Given the description of an element on the screen output the (x, y) to click on. 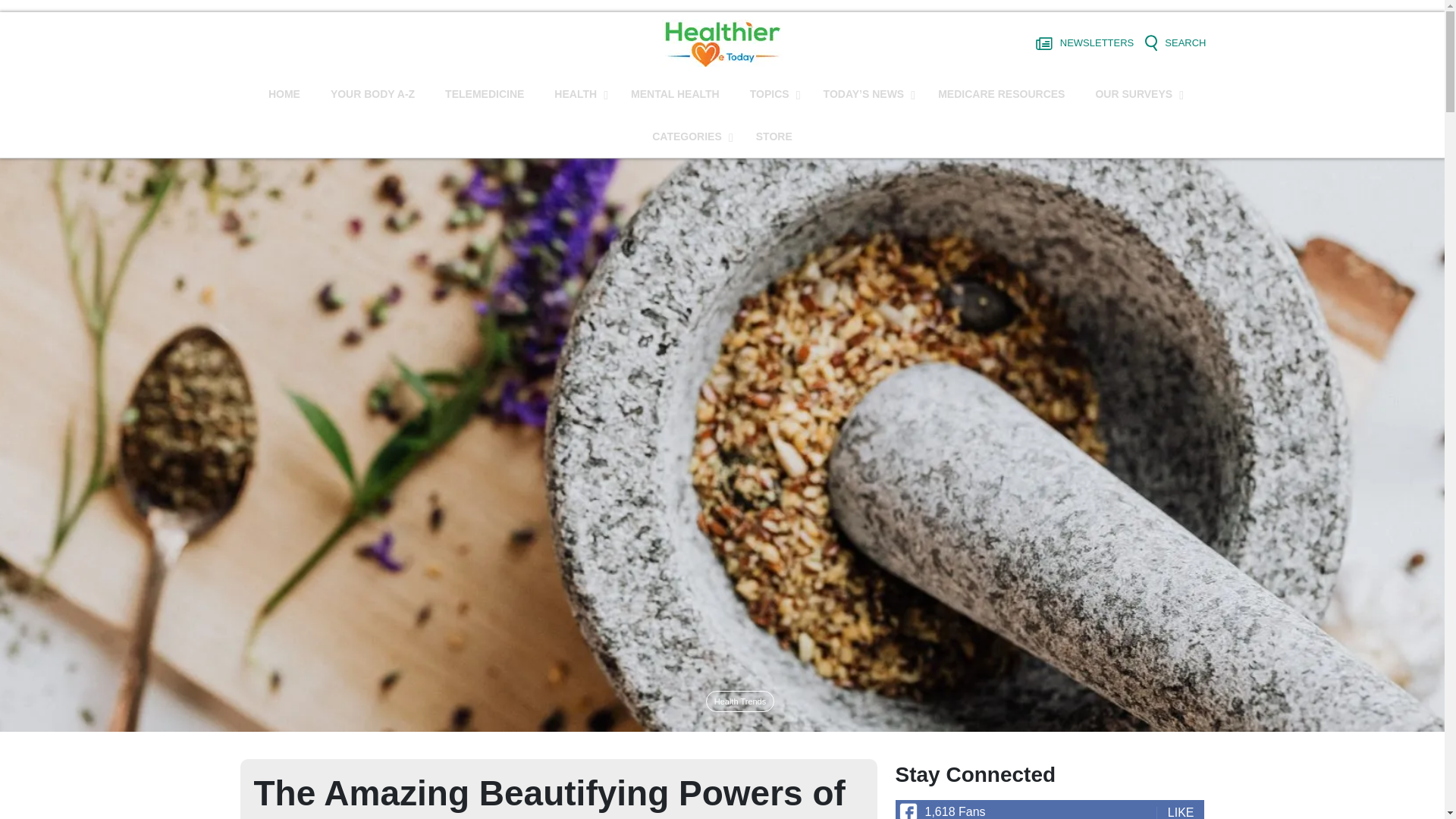
YOUR BODY A-Z (372, 93)
HEALTH (576, 93)
Healthier Me Today! (722, 42)
TELEMEDICINE (483, 93)
SEARCH (1174, 43)
NEWSLETTERS (1084, 43)
HOME (284, 93)
